Given the description of an element on the screen output the (x, y) to click on. 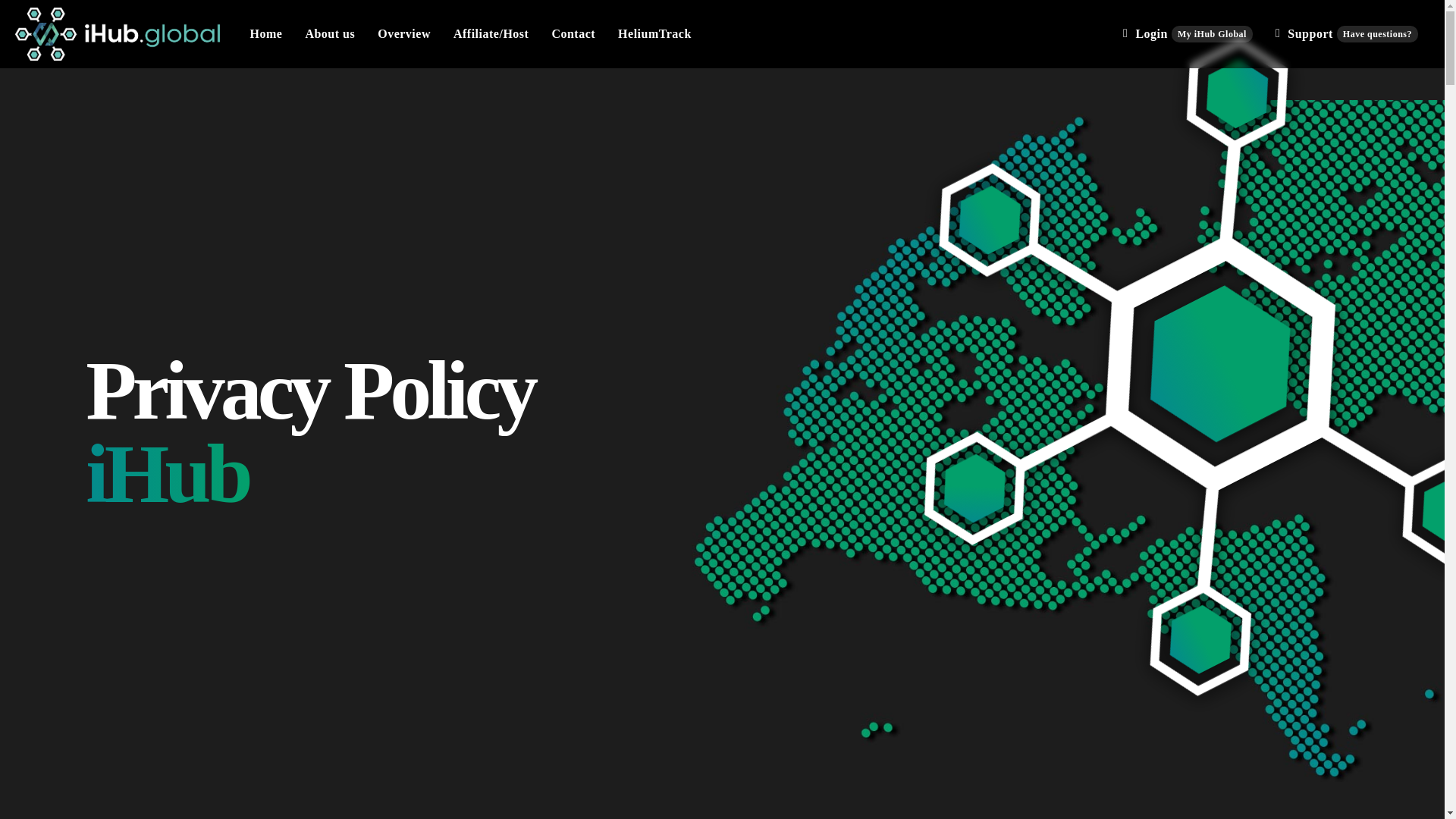
Overview (1187, 33)
About us (404, 33)
Home (1346, 33)
Contact (330, 33)
HeliumTrack (266, 33)
